Given the description of an element on the screen output the (x, y) to click on. 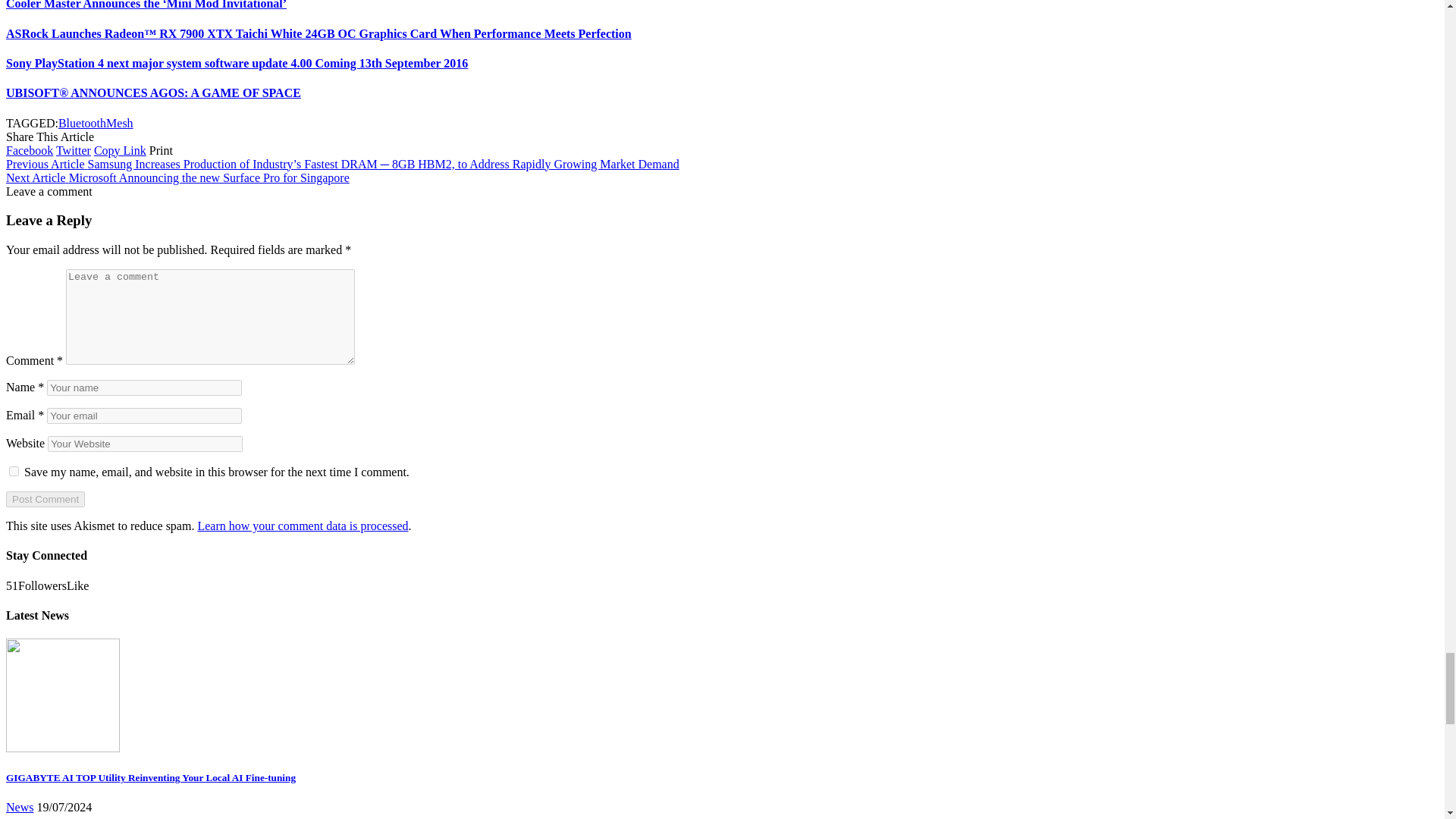
yes (13, 470)
Post Comment (44, 498)
